Given the description of an element on the screen output the (x, y) to click on. 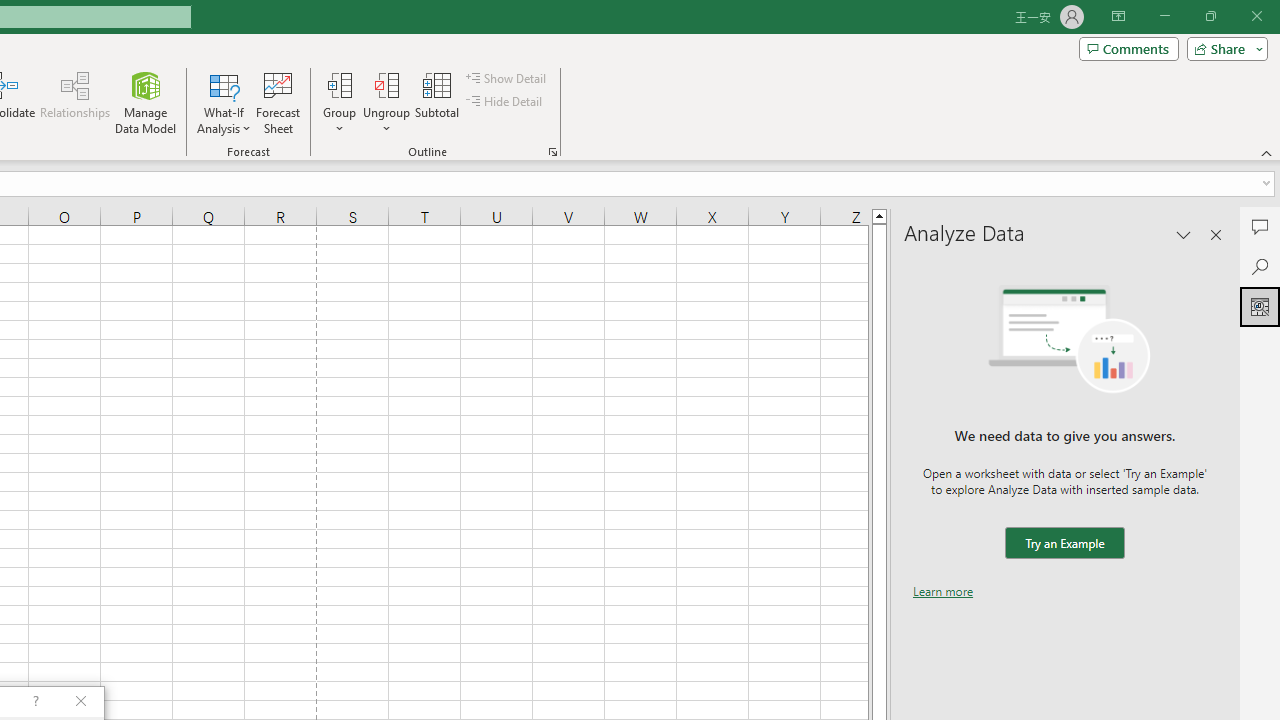
Show Detail (507, 78)
Share (1223, 48)
Analyze Data (1260, 306)
Task Pane Options (1183, 234)
Forecast Sheet (278, 102)
Search (1260, 266)
Ungroup... (386, 102)
Close (1256, 16)
Comments (1260, 226)
What-If Analysis (223, 102)
Comments (1128, 48)
Restore Down (1210, 16)
Close pane (1215, 234)
Group... (339, 102)
